Given the description of an element on the screen output the (x, y) to click on. 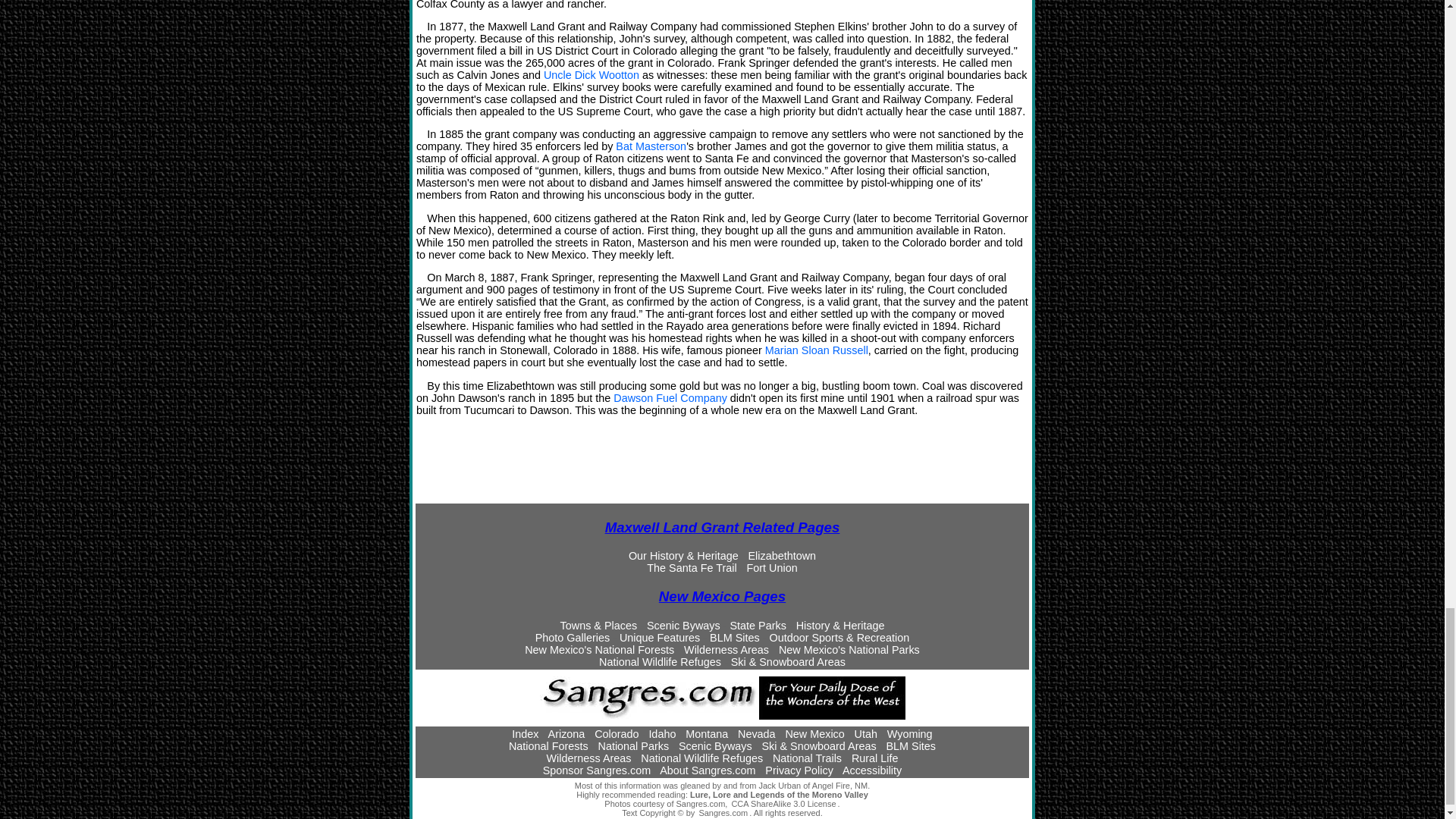
Elizabethtown, New Mexico (781, 555)
Idaho (661, 734)
Uncle Dick Wootton (591, 74)
New Mexico's National Parks (849, 649)
Index (525, 734)
Scenic Byways in New Mexico (683, 625)
The Santa Fe Trail (691, 567)
Scenic Byways (683, 625)
Our History and Heritage (683, 555)
Colorado (616, 734)
State Parks (757, 625)
National Wildlife Refuges (659, 662)
Photo Galleries (572, 637)
Montana (706, 734)
New Mexico's National Forests (599, 649)
